Given the description of an element on the screen output the (x, y) to click on. 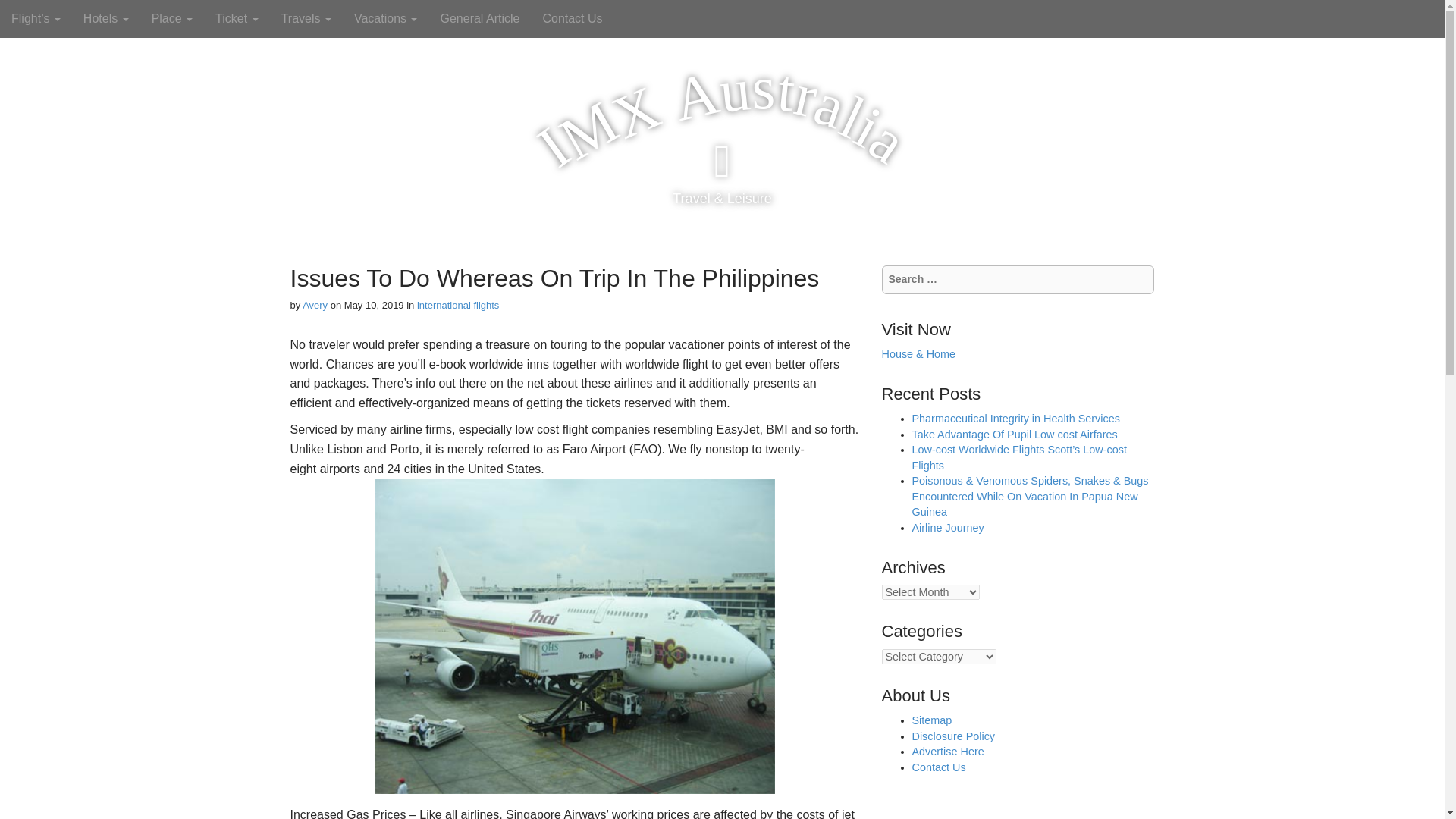
Ticket (236, 18)
Contact Us (571, 18)
Posts by Avery (314, 305)
May 10, 2019 (373, 305)
Vacations (385, 18)
Avery (314, 305)
Place (171, 18)
Travels (305, 18)
General Article (479, 18)
international flights (457, 305)
Hotels (105, 18)
